Given the description of an element on the screen output the (x, y) to click on. 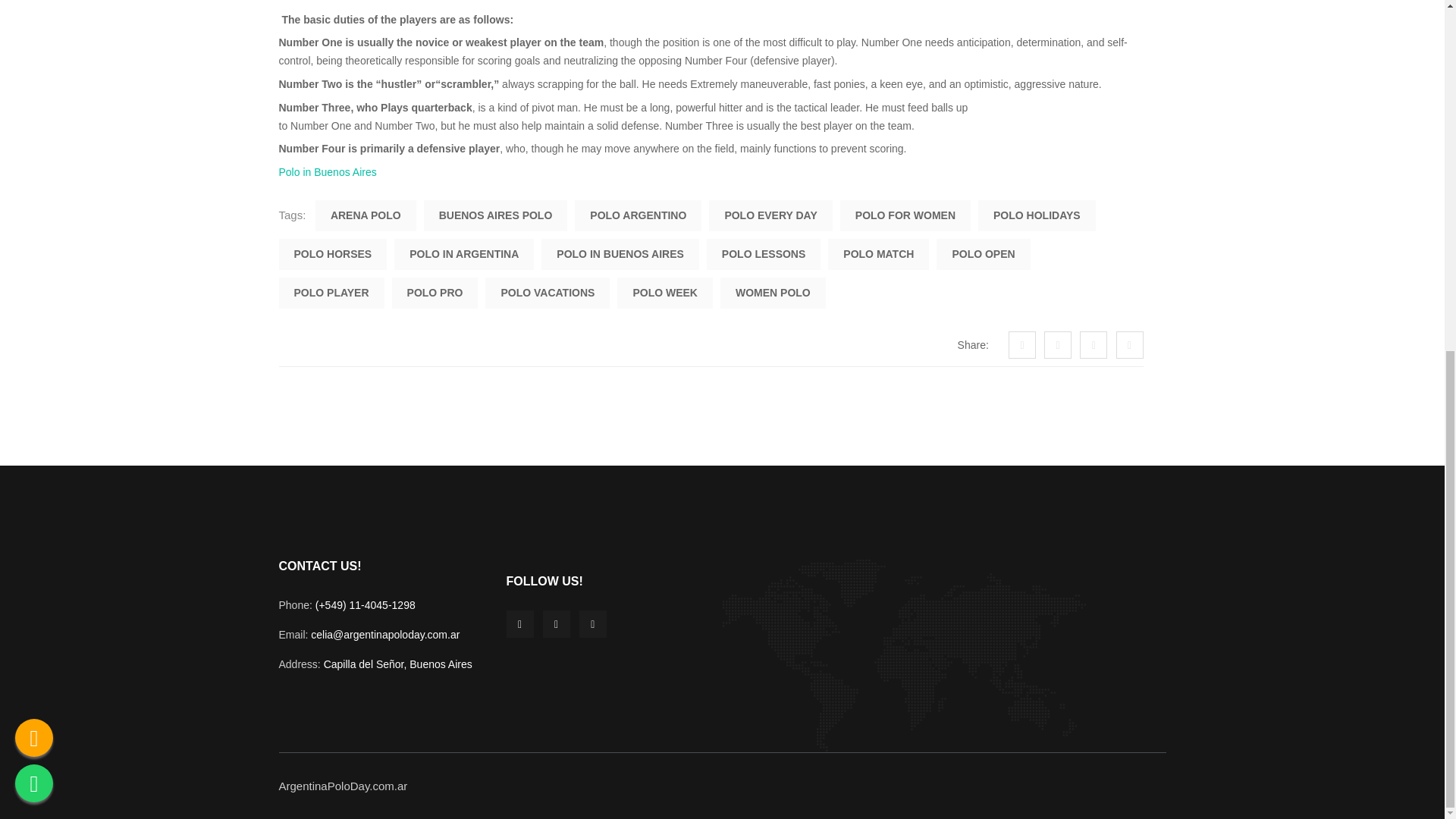
BUENOS AIRES POLO (495, 214)
POLO FOR WOMEN (905, 214)
ARENA POLO (365, 214)
POLO HOLIDAYS (1037, 214)
THE PLAYERS  (317, 1)
POLO EVERY DAY (770, 214)
POLO ARGENTINO (638, 214)
Polo in Buenos Aires (328, 172)
